Given the description of an element on the screen output the (x, y) to click on. 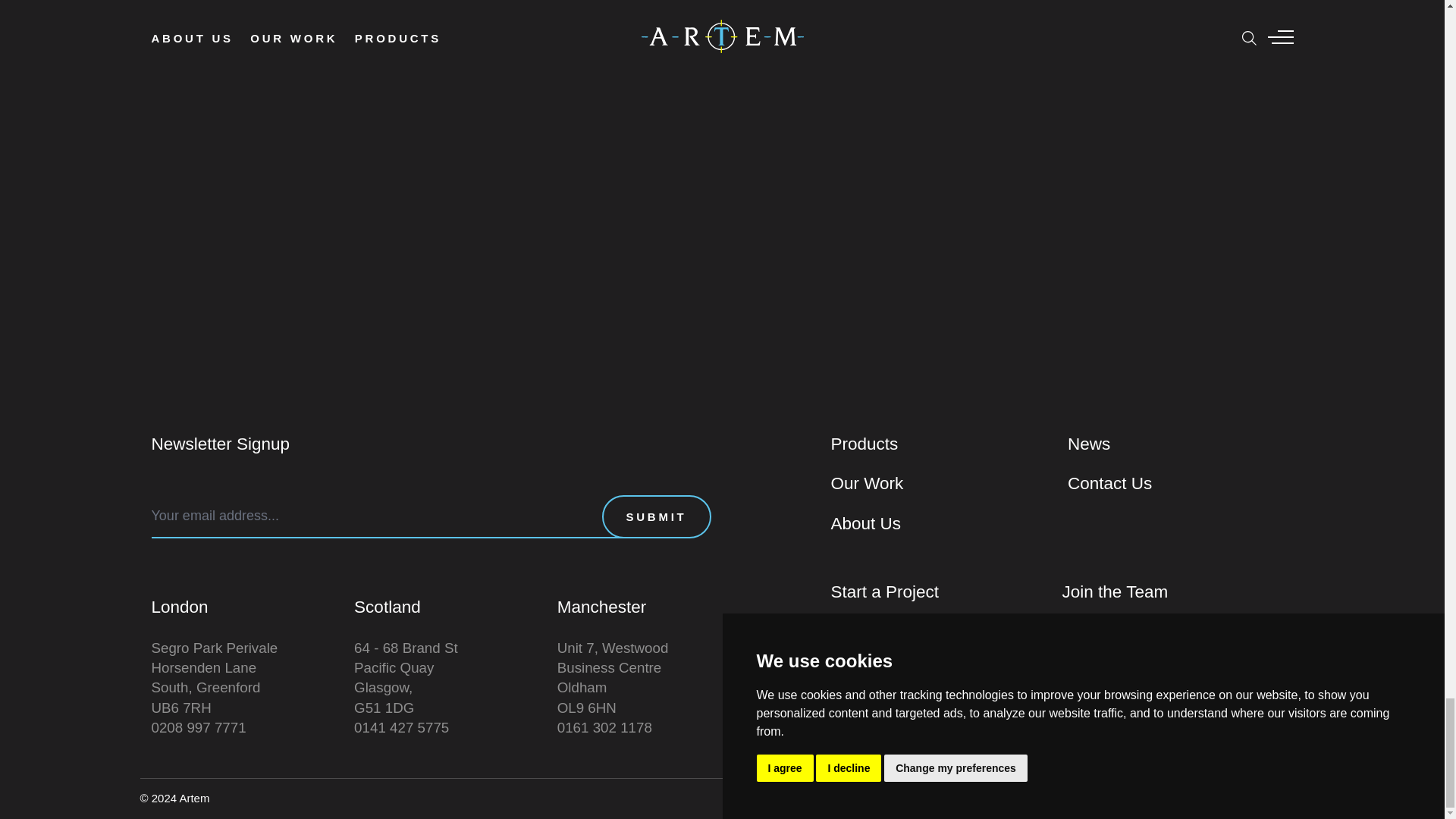
About Us (944, 523)
Products (944, 444)
SUBMIT (656, 516)
0208 997 7771 (946, 632)
Contact Us (1180, 483)
Our Work (944, 483)
News (1180, 444)
0208 997 7771 (1176, 632)
